Given the description of an element on the screen output the (x, y) to click on. 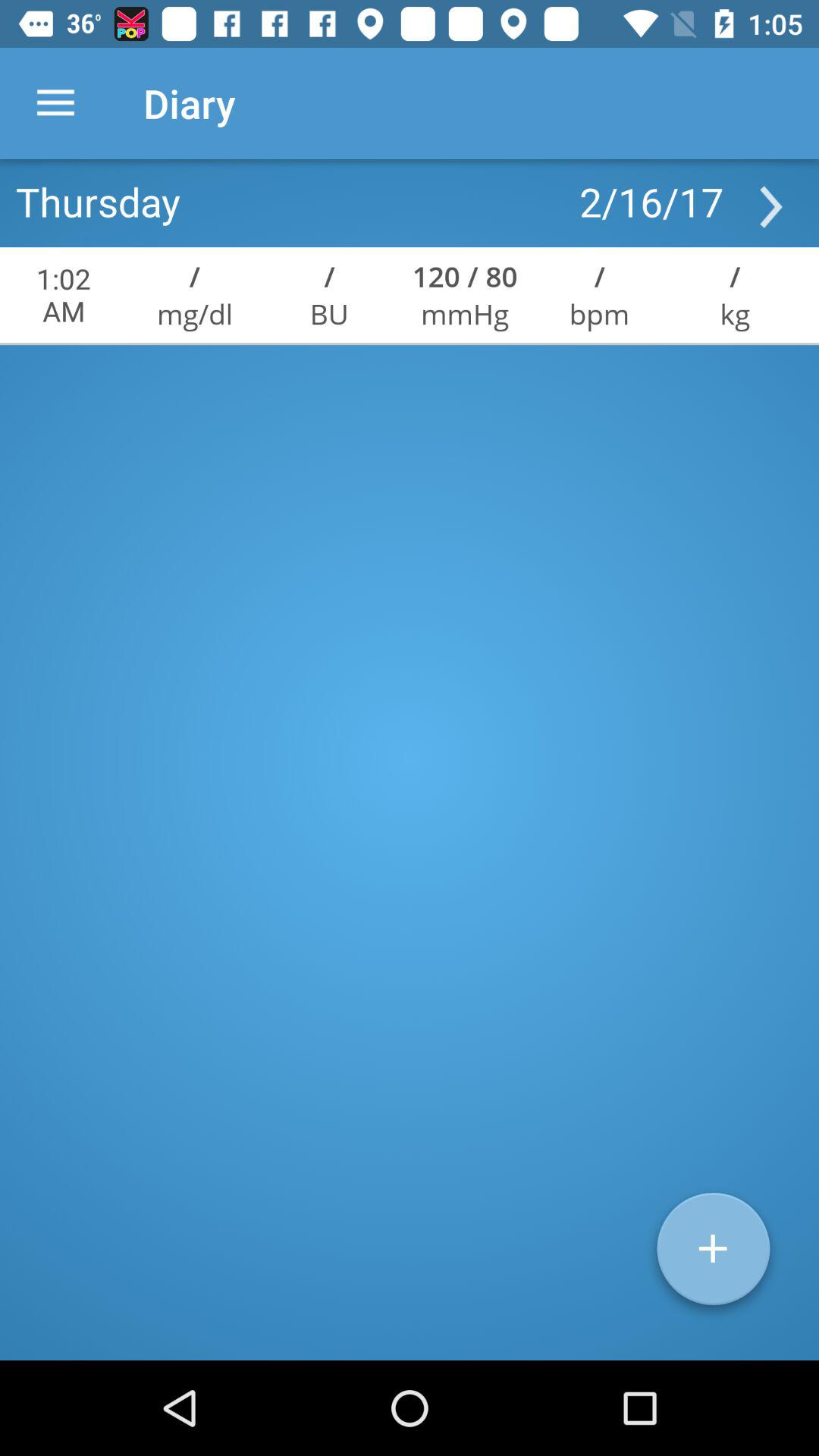
choose icon above the 1:02
am icon (97, 201)
